Given the description of an element on the screen output the (x, y) to click on. 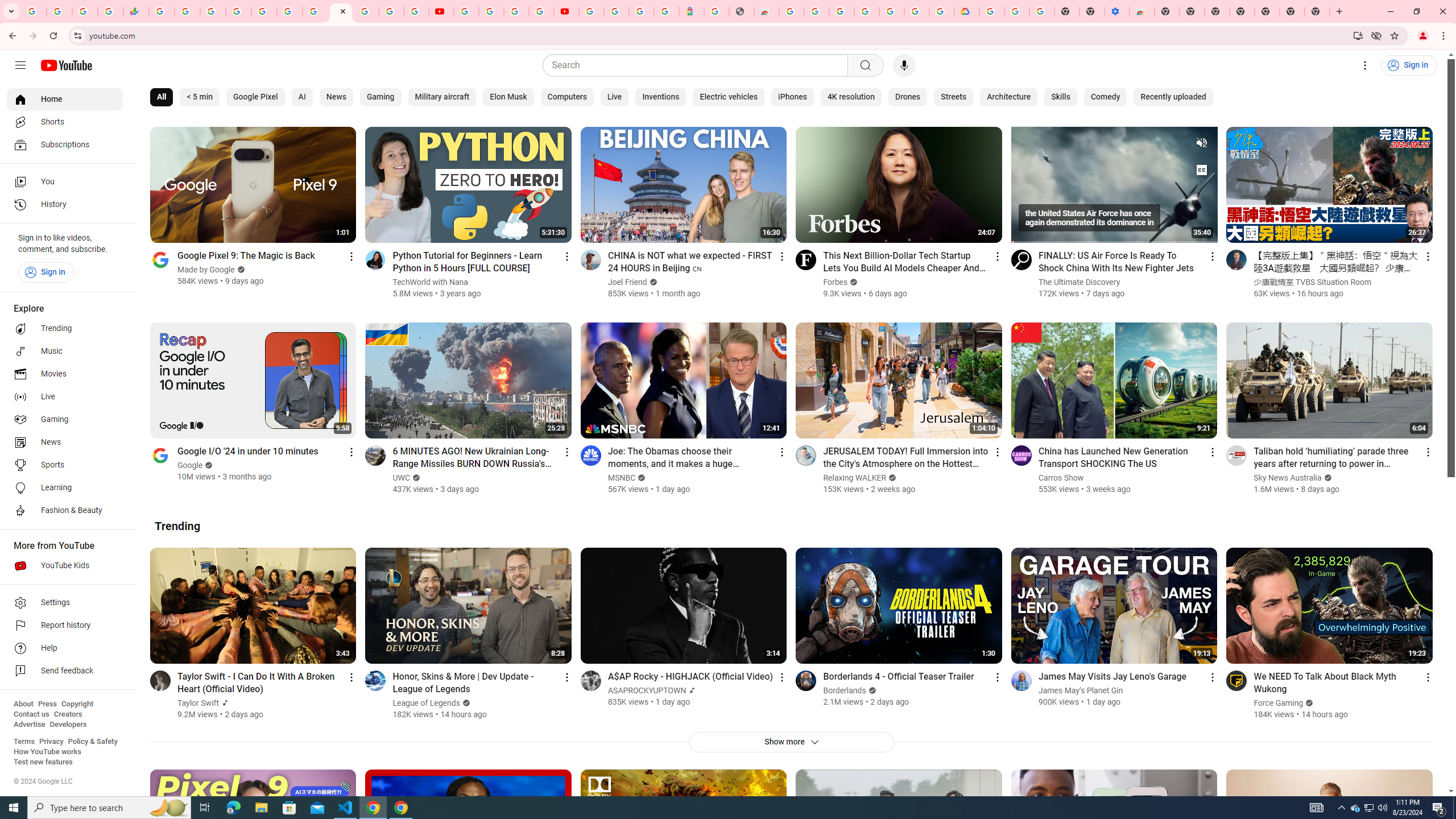
New Tab (1317, 11)
Action menu (1427, 676)
YouTube Kids (64, 565)
The Ultimate Discovery (1079, 282)
Sky News Australia (1287, 477)
Copyright (77, 703)
All (161, 97)
Guide (20, 65)
Google Account Help (1016, 11)
